Given the description of an element on the screen output the (x, y) to click on. 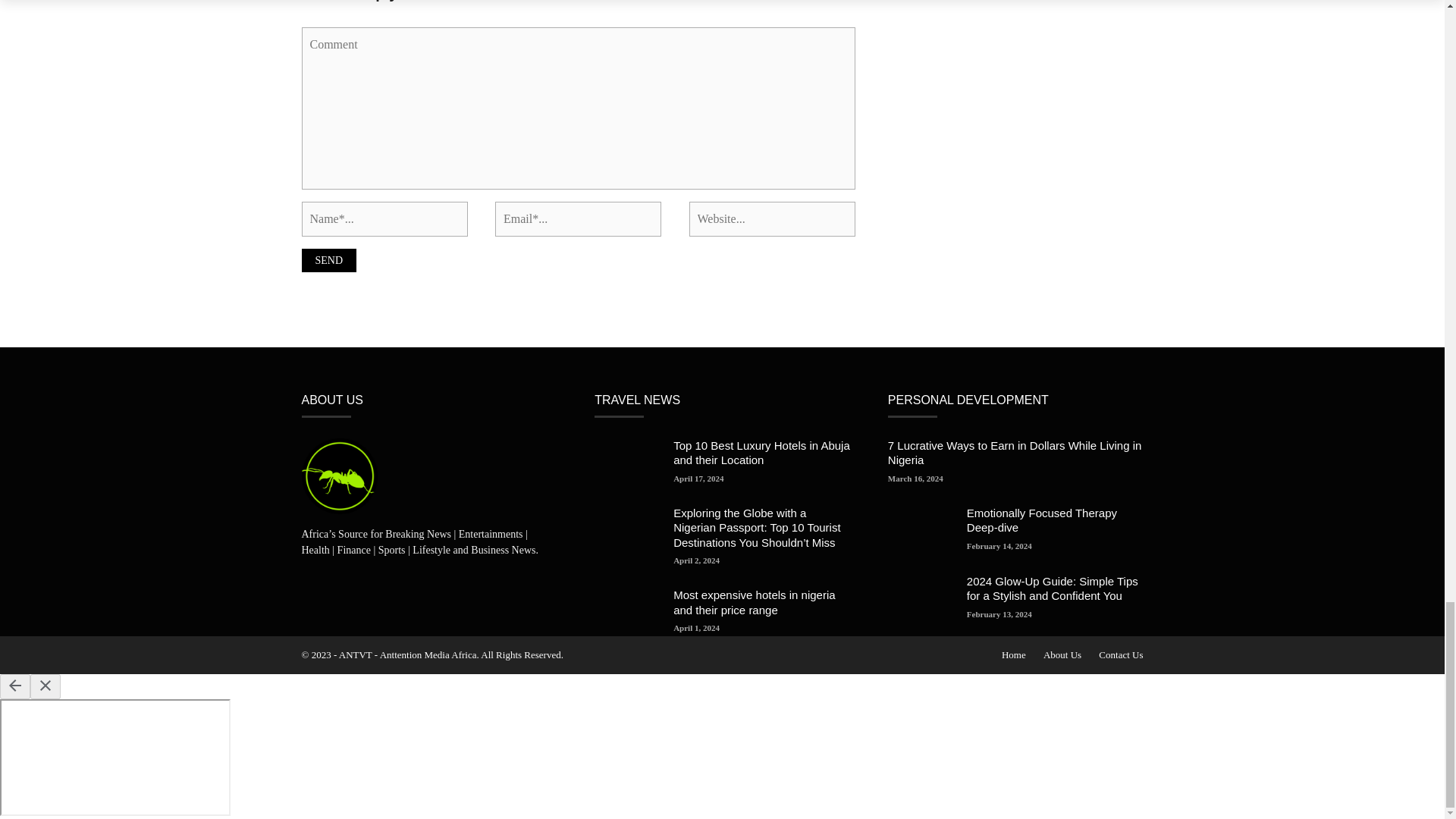
Send (328, 259)
